Given the description of an element on the screen output the (x, y) to click on. 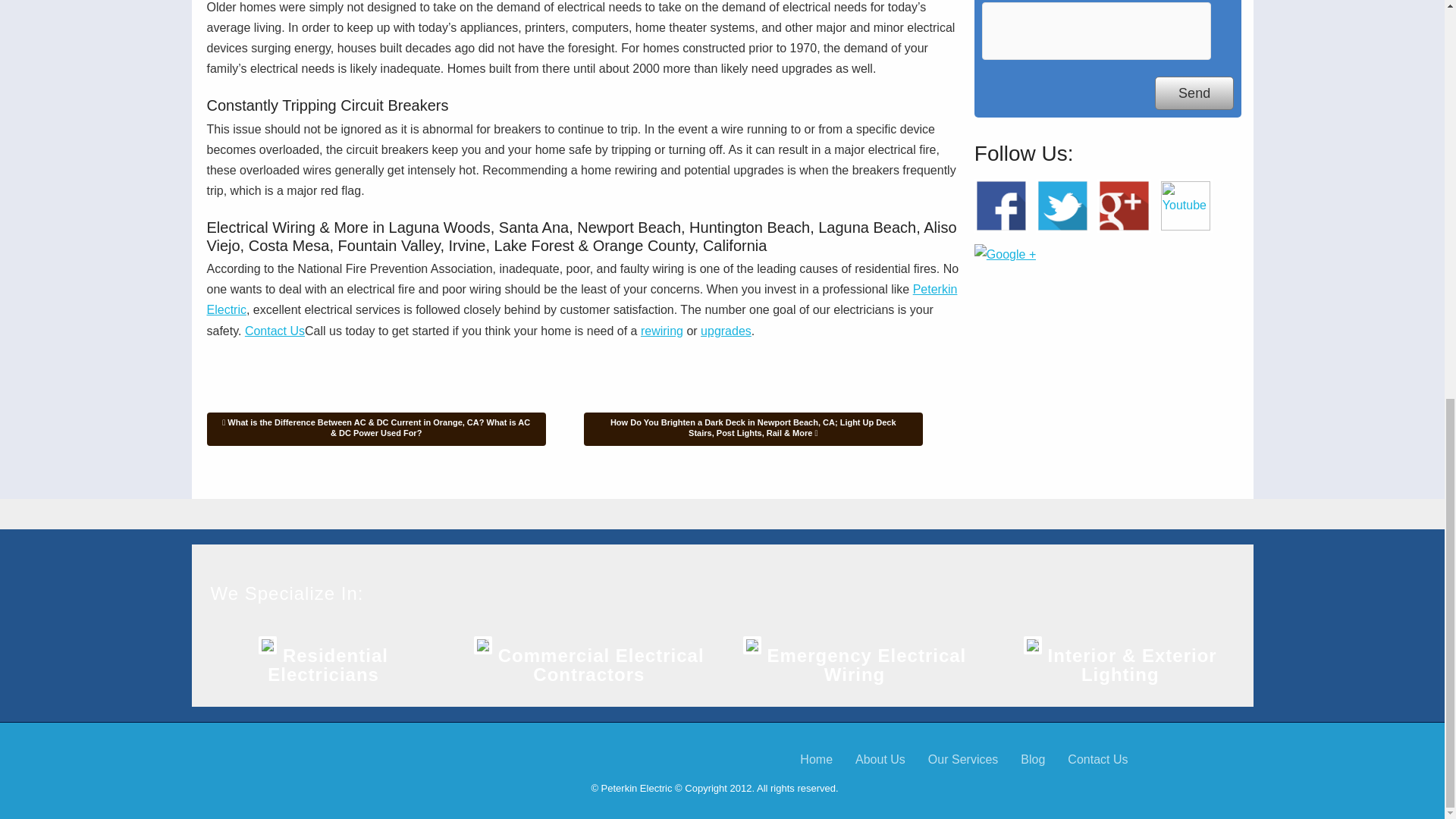
Contact Us (274, 330)
Peterkin Electric (581, 299)
Send (1193, 93)
upgrades (725, 330)
Commercial Electrical Contractors (600, 664)
Send (1193, 93)
Residential Electricians (327, 664)
rewiring (661, 330)
